Given the description of an element on the screen output the (x, y) to click on. 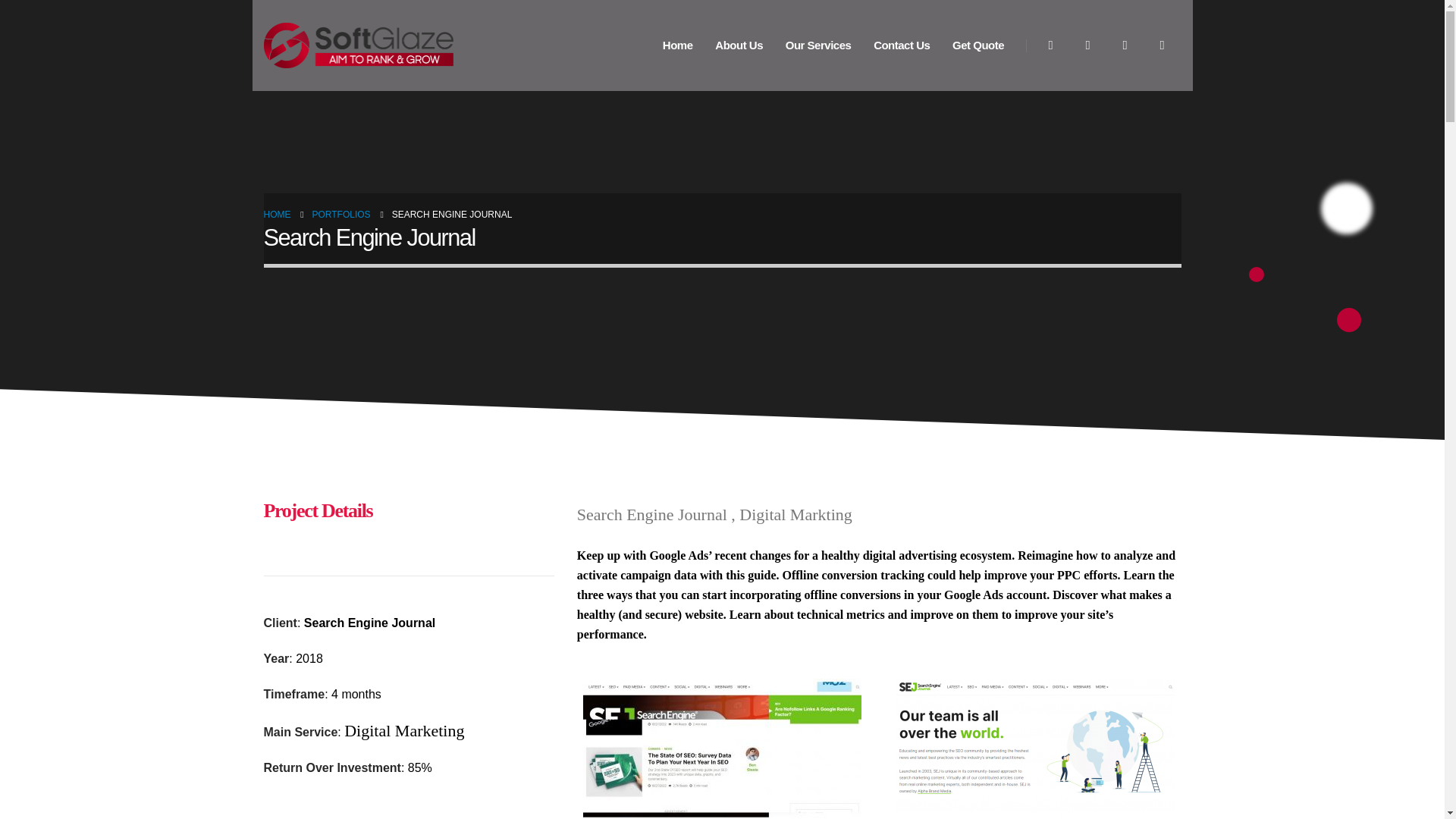
HOME (277, 214)
Facebook (1160, 44)
Our Services (817, 45)
Contact Us (901, 45)
About Us (738, 45)
Go to Home Page (277, 214)
PORTFOLIOS (342, 214)
Skype (1124, 44)
Home (676, 45)
Twitter (1086, 44)
Instagram (1050, 44)
Get Quote (978, 45)
